Given the description of an element on the screen output the (x, y) to click on. 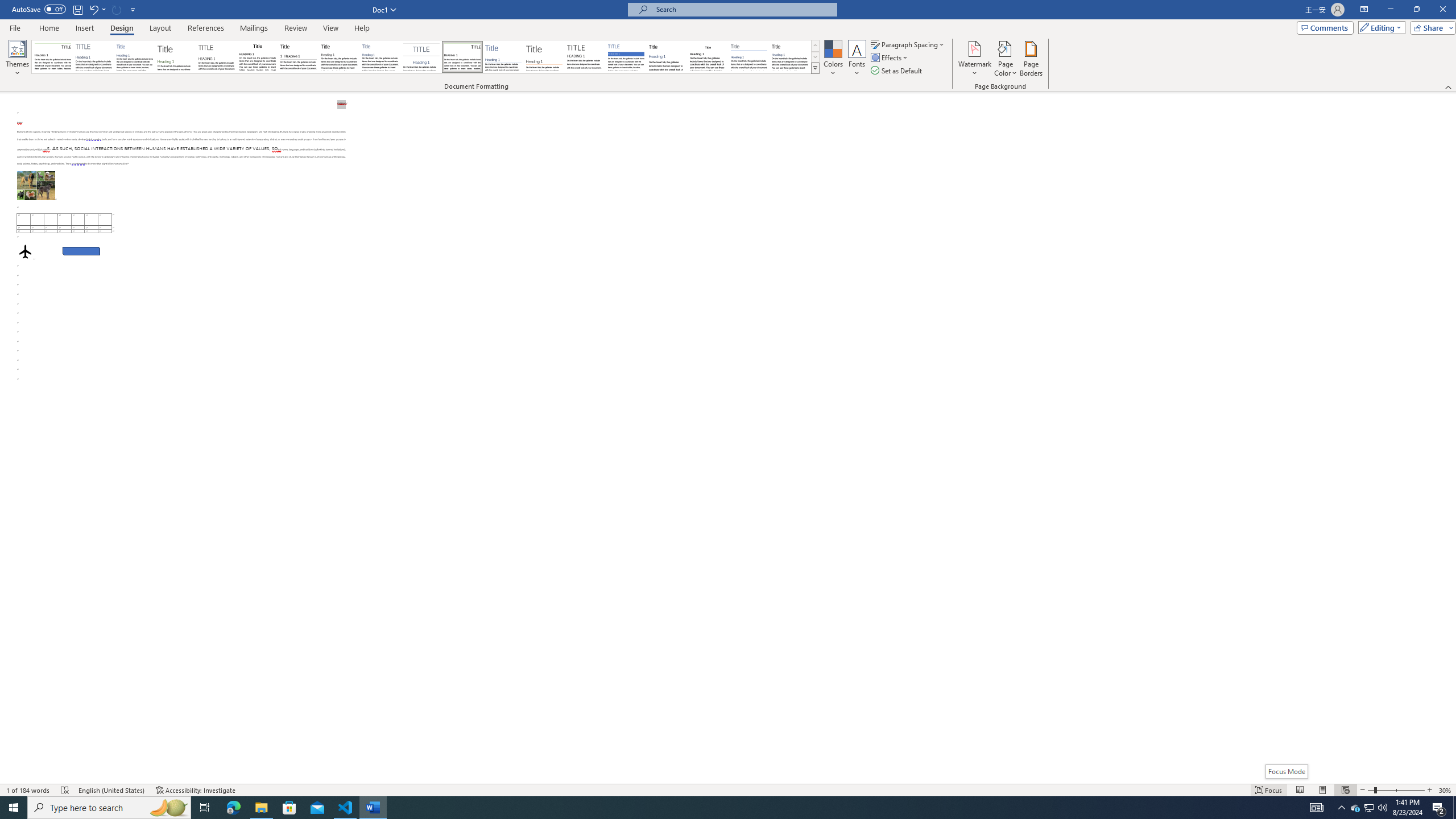
Lines (Stylish) (544, 56)
Lines (Simple) (503, 56)
Minimalist (584, 56)
Can't Repeat (117, 9)
Focus Mode (1286, 771)
Fonts (856, 58)
